Given the description of an element on the screen output the (x, y) to click on. 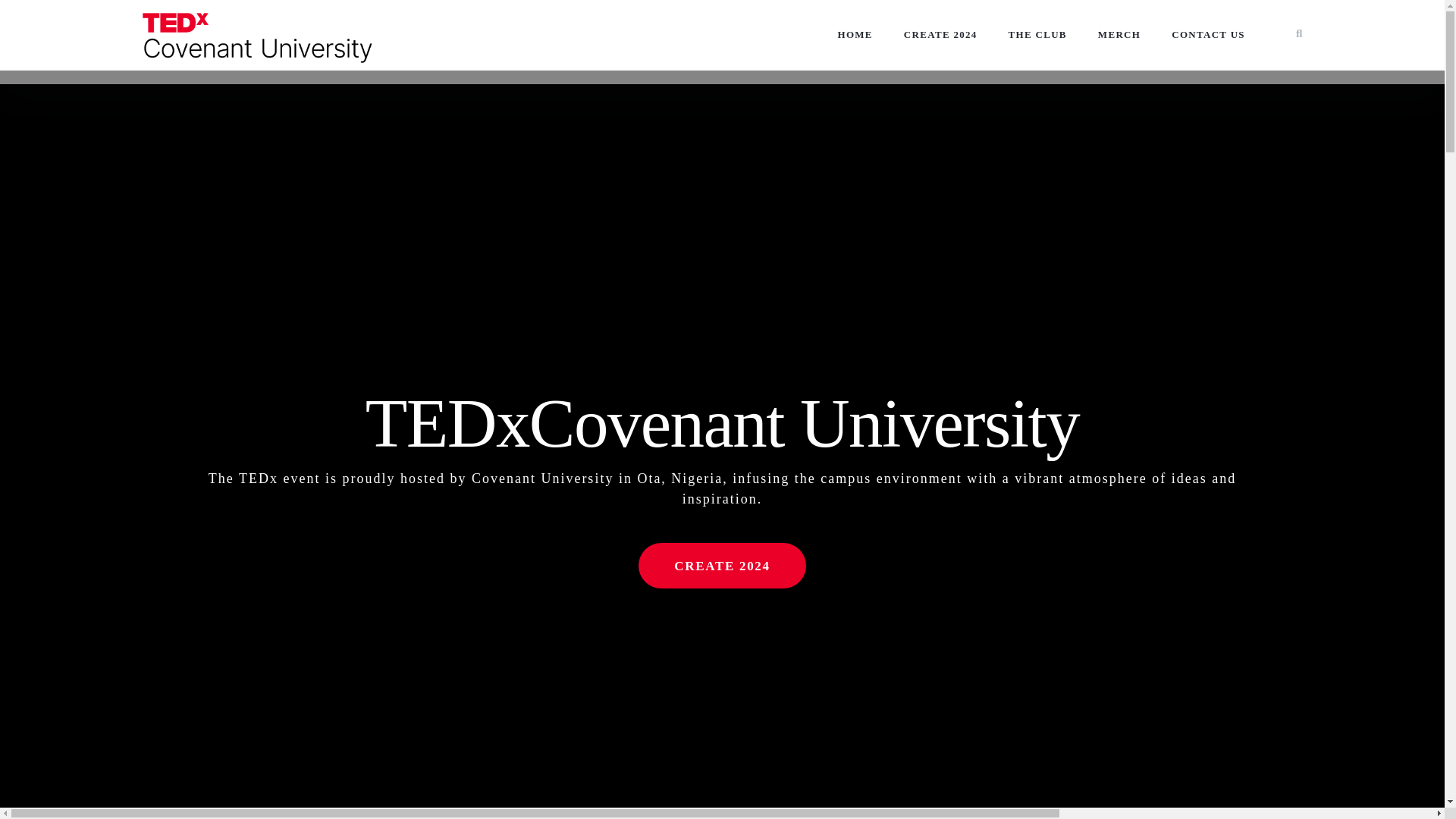
CREATE 2024 (941, 34)
HOME (854, 34)
THE CLUB (1036, 34)
CREATE 2024 (722, 565)
CONTACT US (1207, 34)
MERCH (1119, 34)
